Given the description of an element on the screen output the (x, y) to click on. 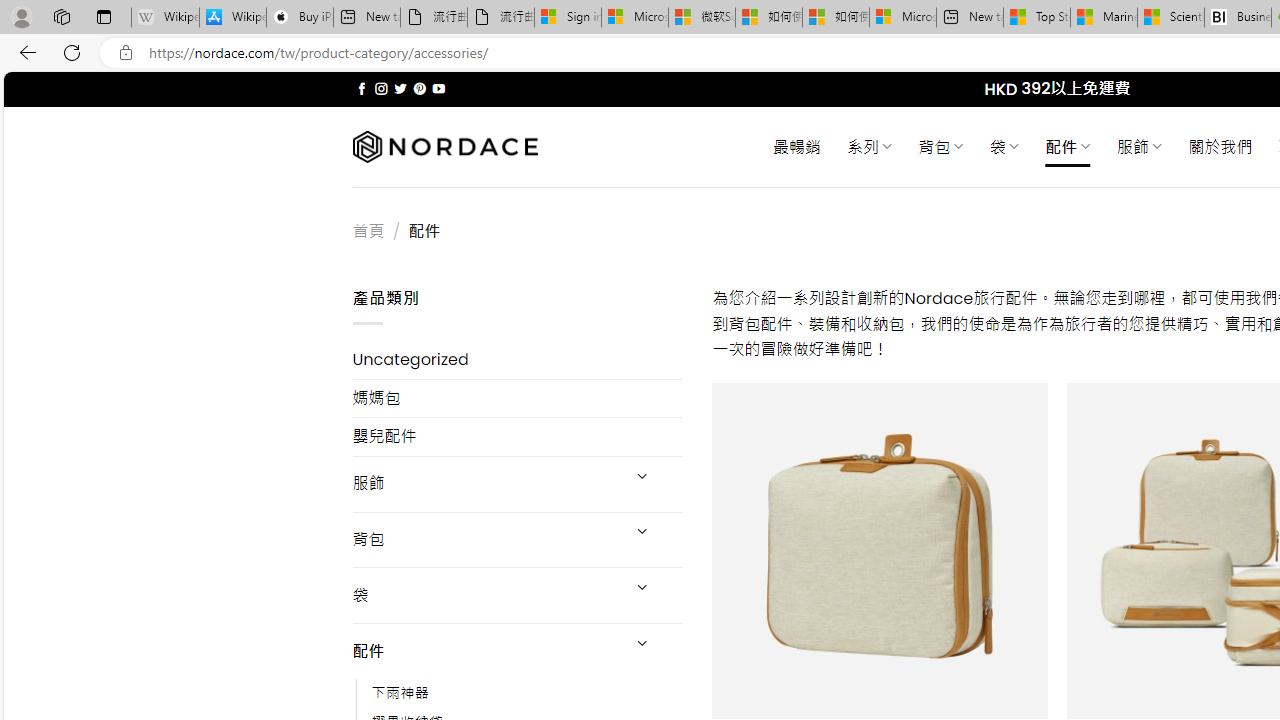
Wikipedia - Sleeping (164, 17)
Microsoft Services Agreement (634, 17)
Nordace (444, 147)
